Given the description of an element on the screen output the (x, y) to click on. 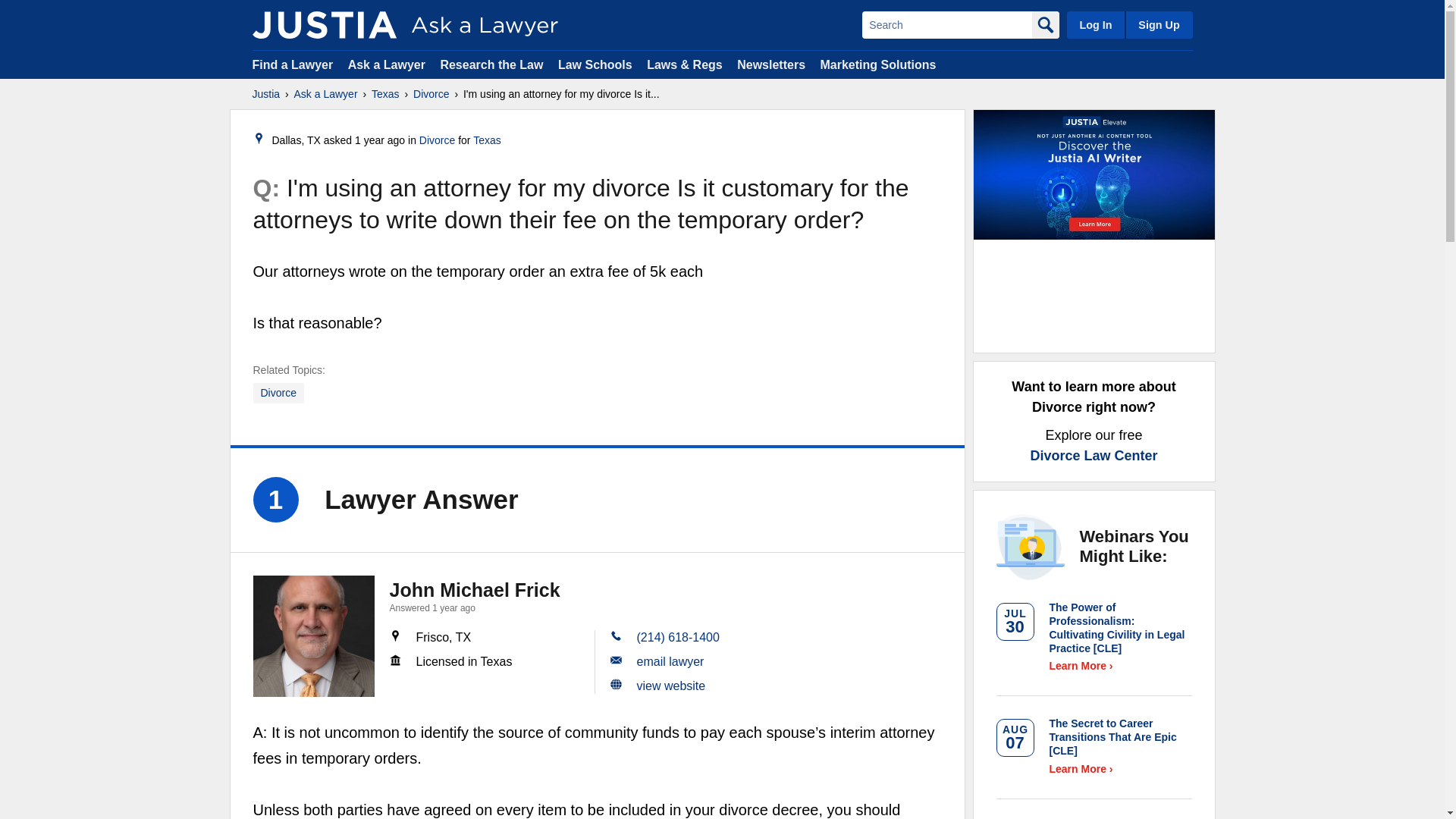
2023-01-27T18:07:44-08:00 (379, 140)
Justia (265, 93)
email lawyer (670, 661)
Divorce (430, 93)
Law Schools (594, 64)
Research the Law (491, 64)
Ask a Lawyer (326, 93)
Search (945, 24)
Marketing Solutions (877, 64)
Newsletters (770, 64)
Ask a Lawyer (388, 64)
Sign Up (1158, 24)
John Michael Frick (313, 635)
Justia (323, 24)
Find a Lawyer (292, 64)
